Given the description of an element on the screen output the (x, y) to click on. 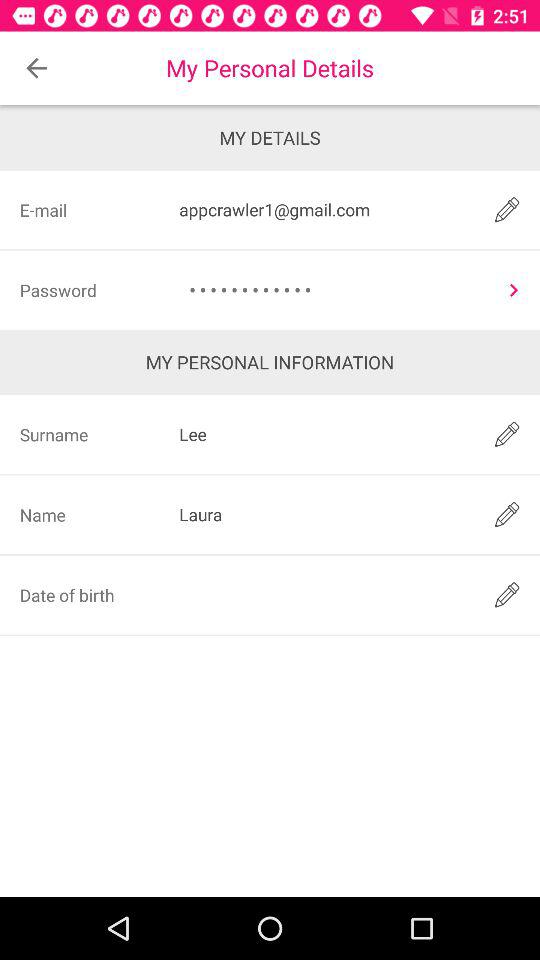
swipe to laura icon (323, 514)
